Given the description of an element on the screen output the (x, y) to click on. 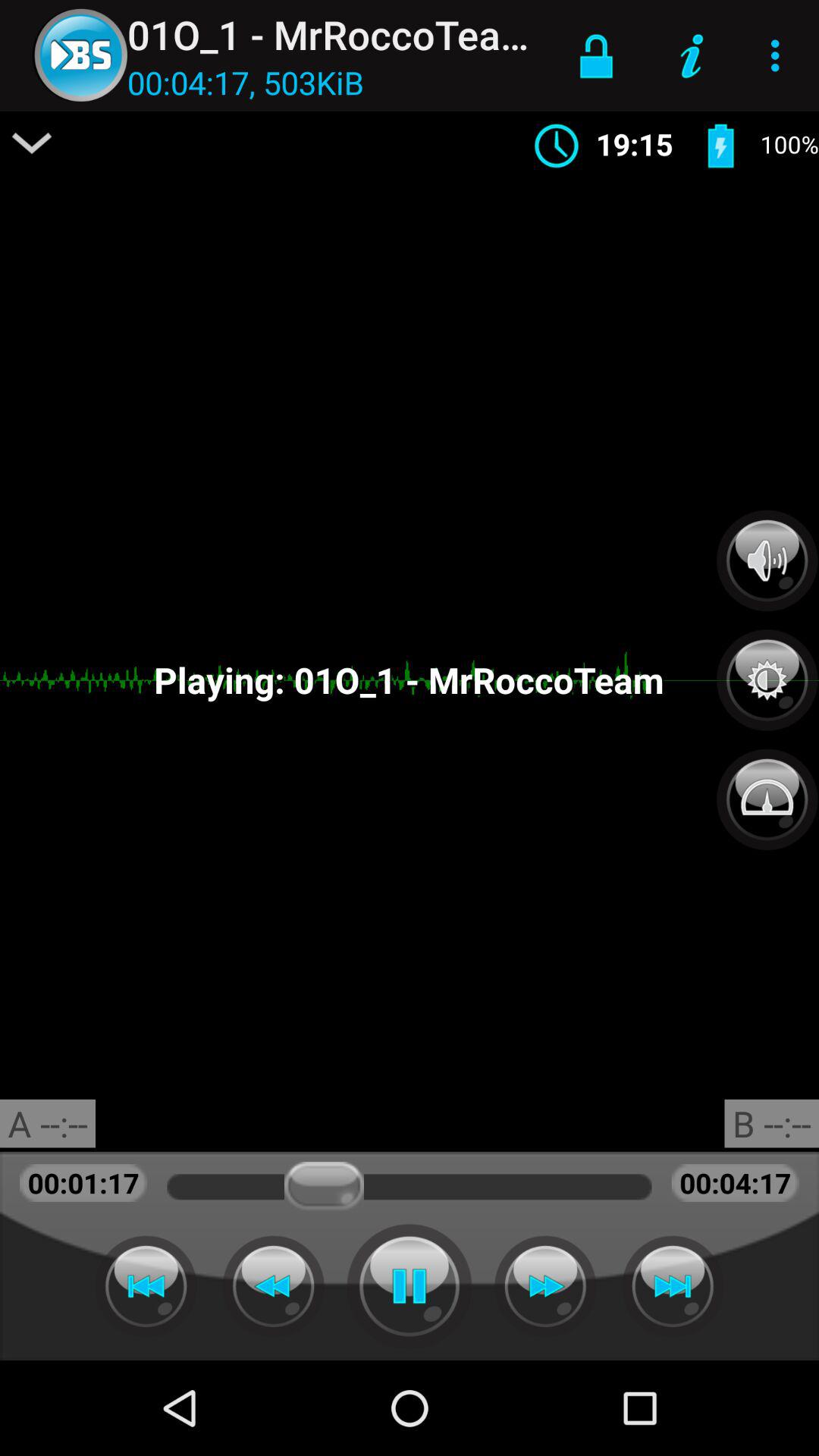
rewind the media (145, 1286)
